Given the description of an element on the screen output the (x, y) to click on. 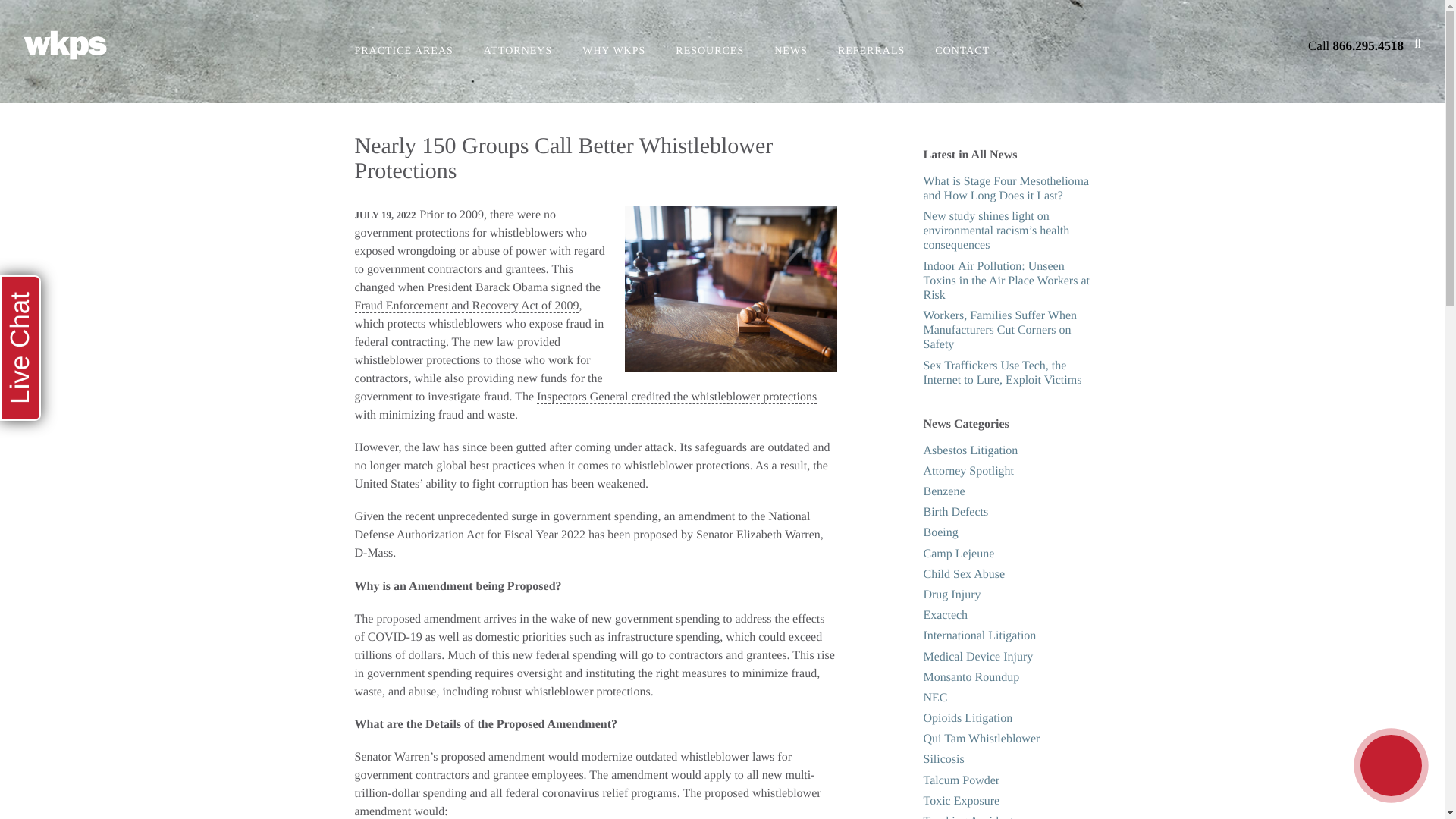
PRACTICE AREAS (403, 51)
